Given the description of an element on the screen output the (x, y) to click on. 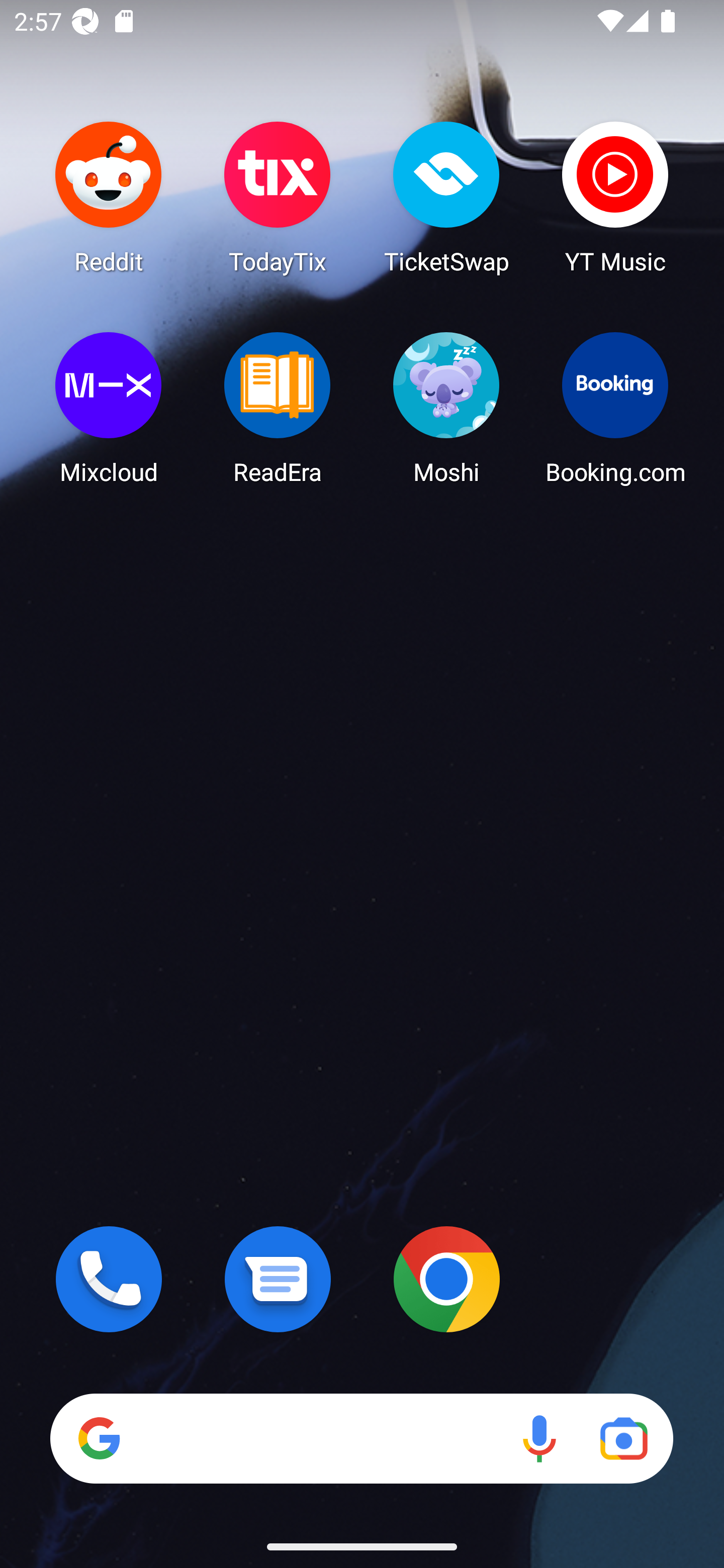
Reddit (108, 196)
TodayTix (277, 196)
TicketSwap (445, 196)
YT Music (615, 196)
Mixcloud (108, 407)
ReadEra (277, 407)
Moshi (445, 407)
Booking.com (615, 407)
Phone (108, 1279)
Messages (277, 1279)
Chrome (446, 1279)
Search Voice search Google Lens (361, 1438)
Voice search (539, 1438)
Google Lens (623, 1438)
